Given the description of an element on the screen output the (x, y) to click on. 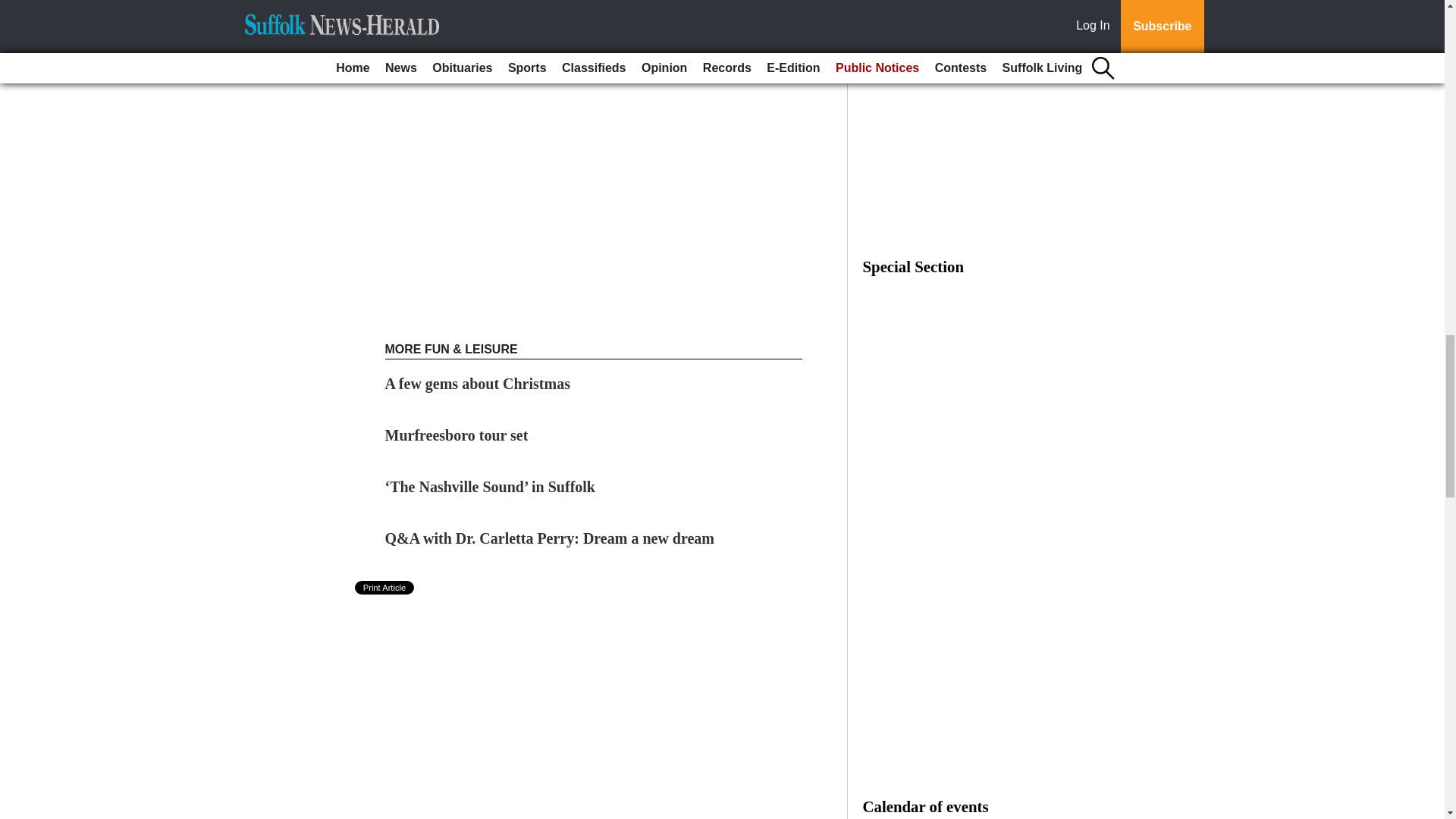
Murfreesboro tour set (456, 434)
A few gems about Christmas (477, 383)
A few gems about Christmas (477, 383)
Print Article (384, 587)
Murfreesboro tour set (456, 434)
